Given the description of an element on the screen output the (x, y) to click on. 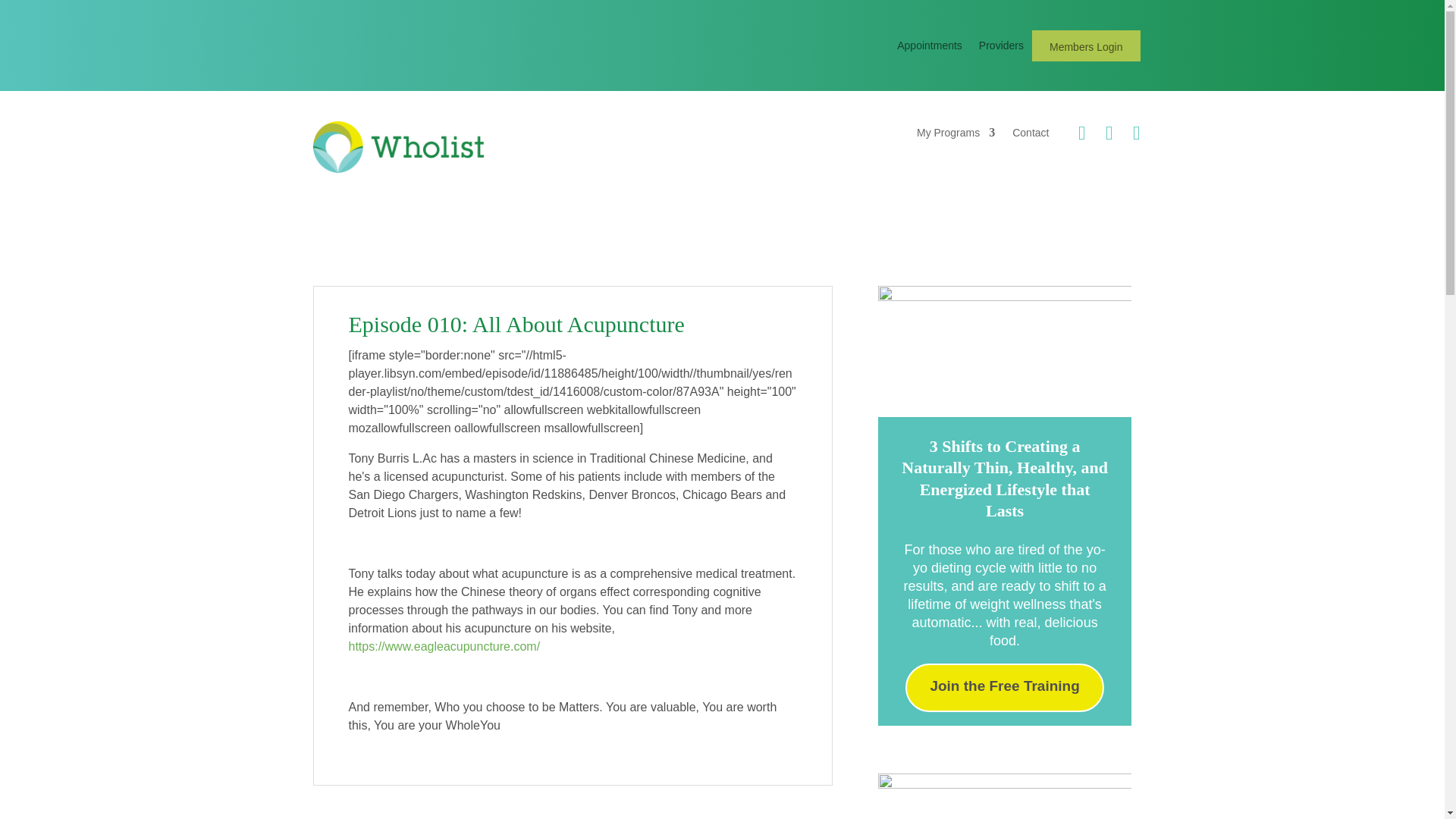
Providers (1000, 50)
wholist-logo (398, 146)
Join the Free Training (1004, 687)
Members Login (1086, 47)
Contact (1029, 138)
My Programs (955, 138)
Appointments (929, 50)
